Given the description of an element on the screen output the (x, y) to click on. 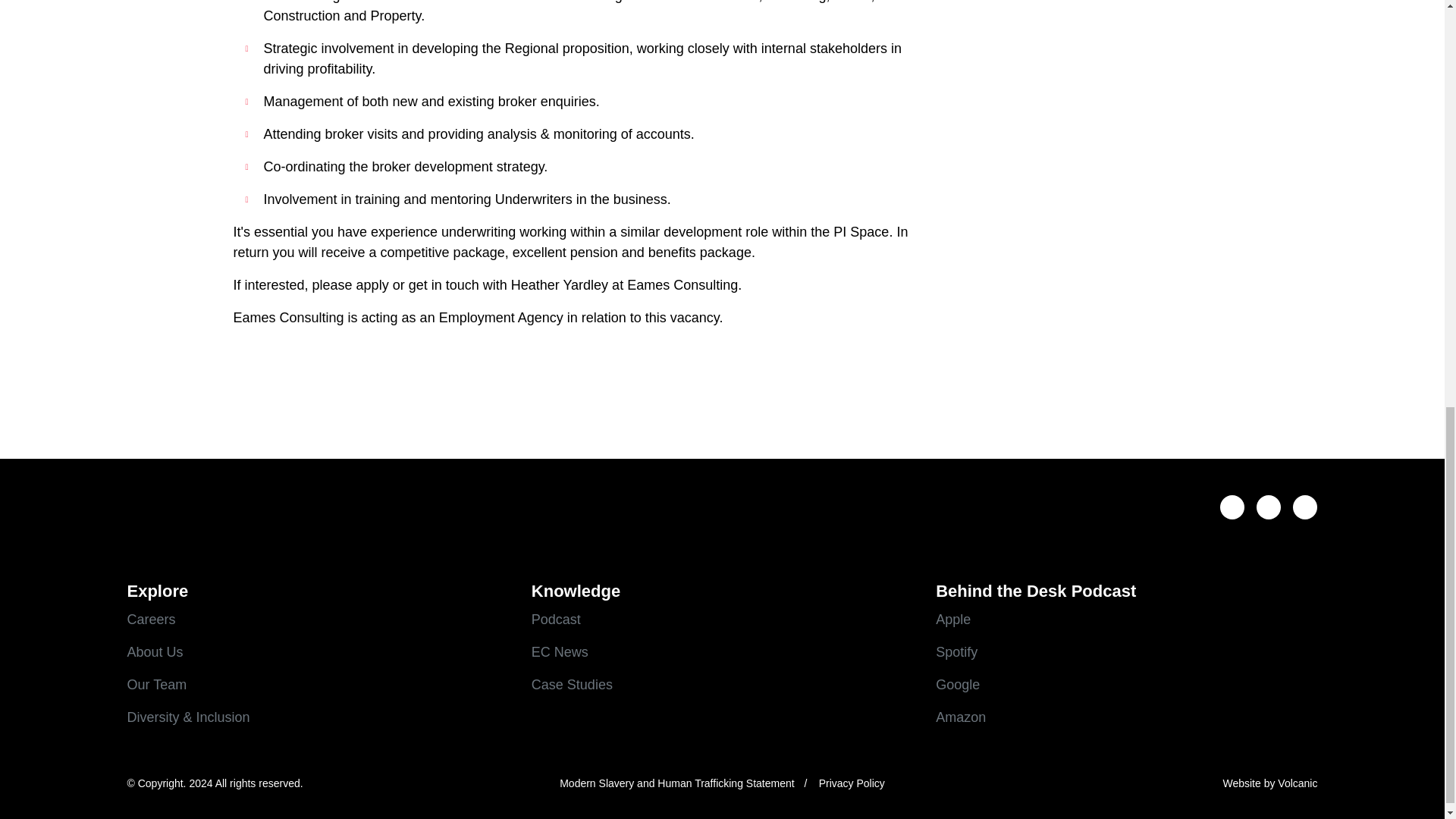
Case Studies (721, 684)
Podcast (721, 619)
Apple (1126, 619)
Our Team (318, 684)
About Us (318, 652)
Amazon (1126, 717)
Spotify (1126, 652)
EC News (721, 652)
Careers (318, 619)
Google (1126, 684)
